Given the description of an element on the screen output the (x, y) to click on. 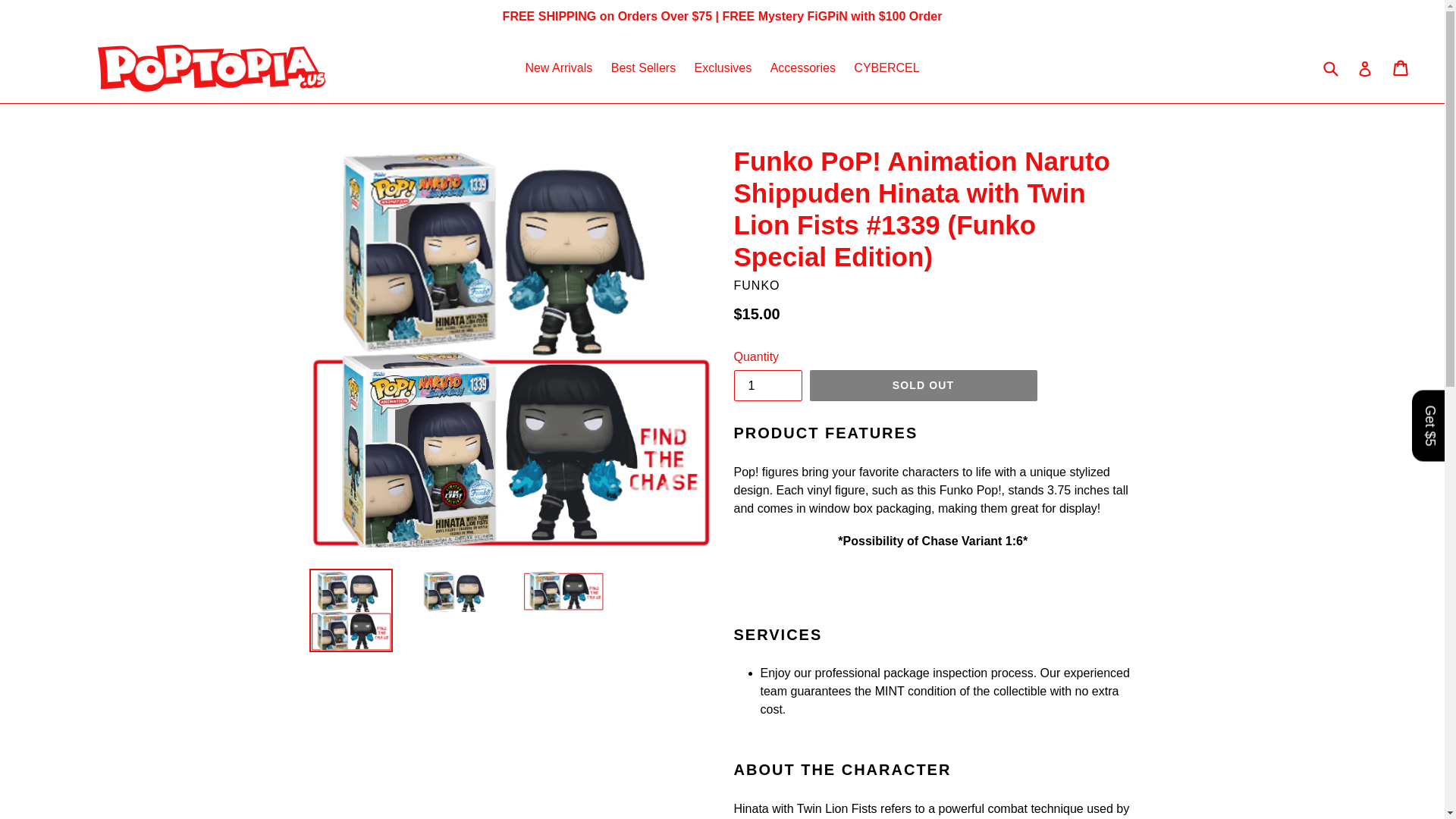
SOLD OUT (922, 386)
New Arrivals (557, 67)
Best Sellers (643, 67)
CYBERCEL (885, 67)
Exclusives (723, 67)
Accessories (802, 67)
1 (767, 385)
